Given the description of an element on the screen output the (x, y) to click on. 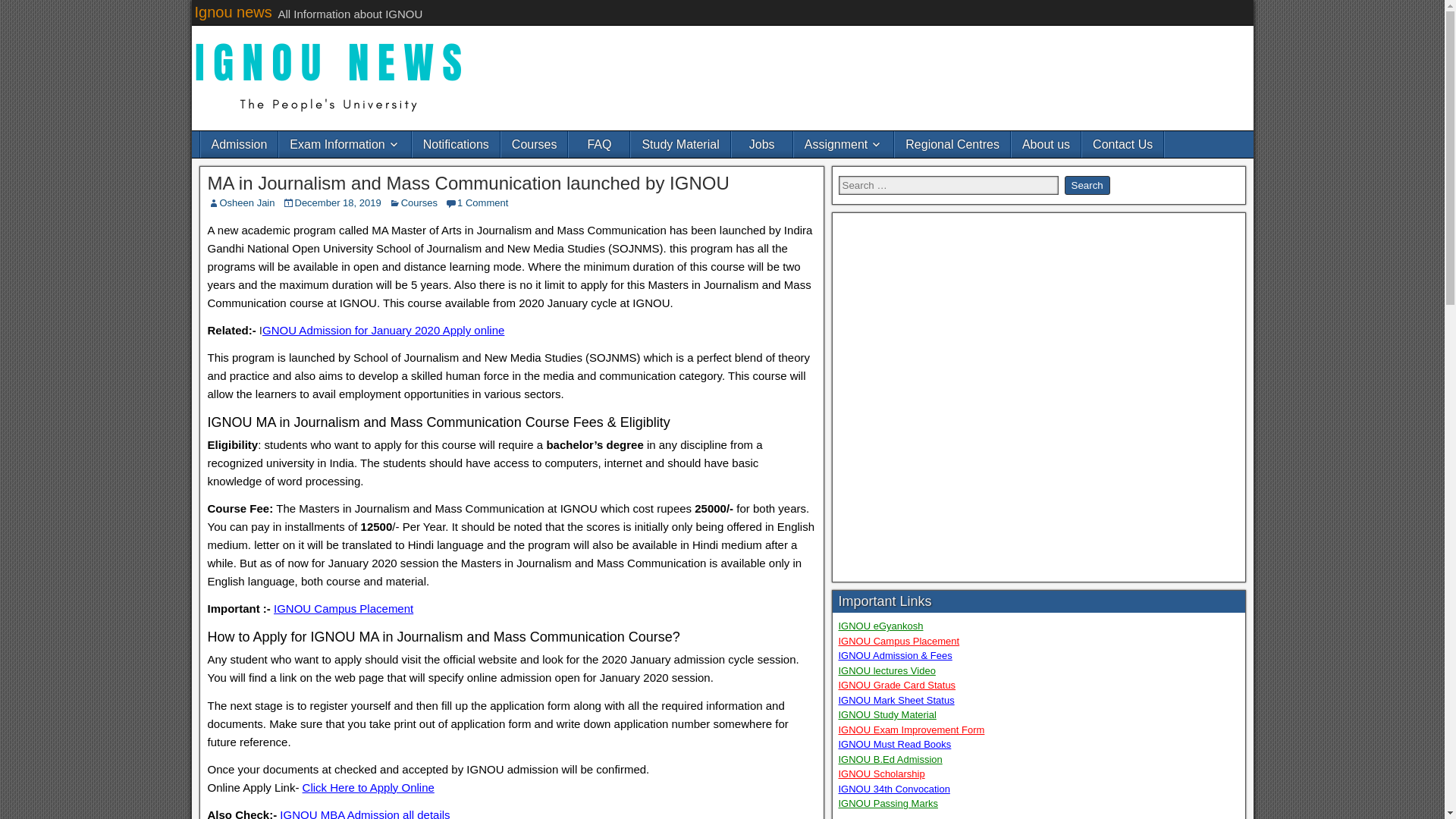
IGNOU MBA Admission all details  (365, 813)
Contact Us (1122, 144)
Exam Information (344, 144)
Notifications (455, 144)
December 18, 2019 (337, 202)
Assignment (843, 144)
FAQ (598, 144)
Click Here to Apply Online (367, 787)
GNOU Admission for January 2020 Apply online (382, 329)
1 Comment (482, 202)
Study Material (679, 144)
Courses (533, 144)
Search (1086, 185)
IGNOU Campus Placement (343, 608)
MA in Journalism and Mass Communication launched by IGNOU (468, 182)
